Given the description of an element on the screen output the (x, y) to click on. 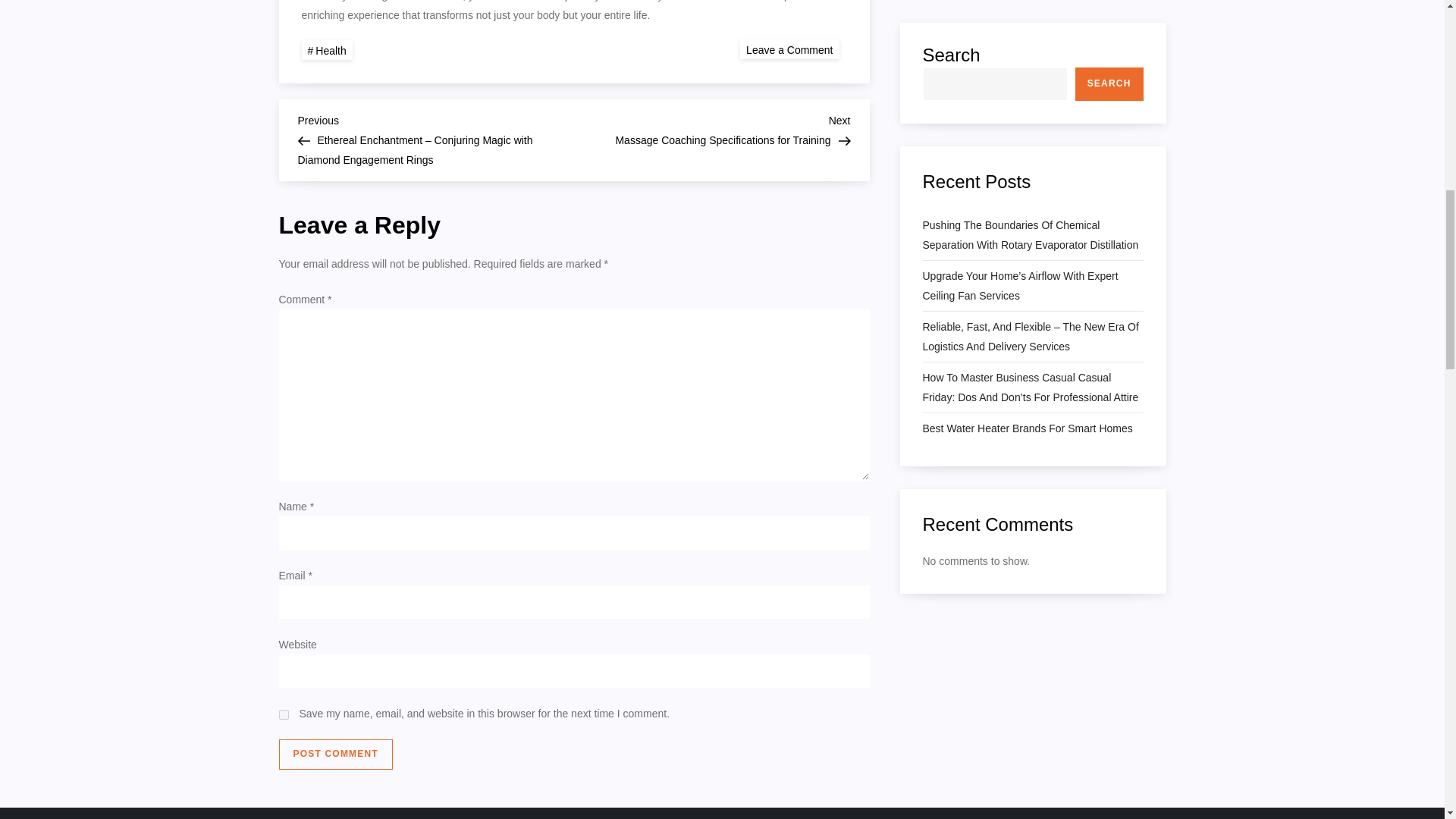
Post Comment (336, 754)
yes (283, 714)
Health (711, 128)
Post Comment (326, 50)
